Given the description of an element on the screen output the (x, y) to click on. 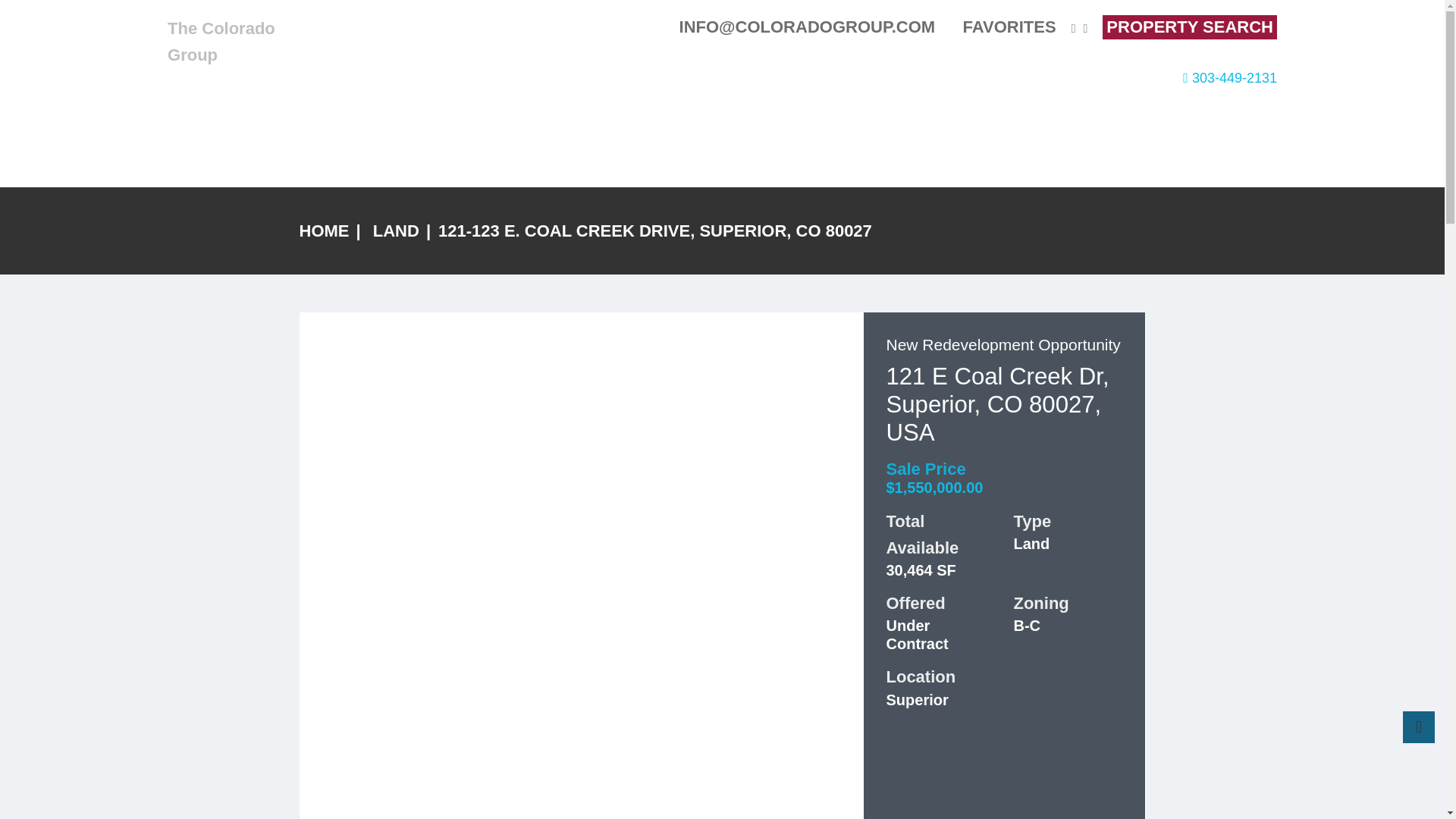
PROPERTY MANAGEMENT (905, 78)
COMPANY (1130, 78)
FAVORITES (1001, 26)
PROPERTIES (674, 78)
SERVICES (1041, 78)
BROKERS (769, 78)
HOME (589, 78)
PROPERTY SEARCH (1189, 27)
The Colorado Group (221, 41)
